Given the description of an element on the screen output the (x, y) to click on. 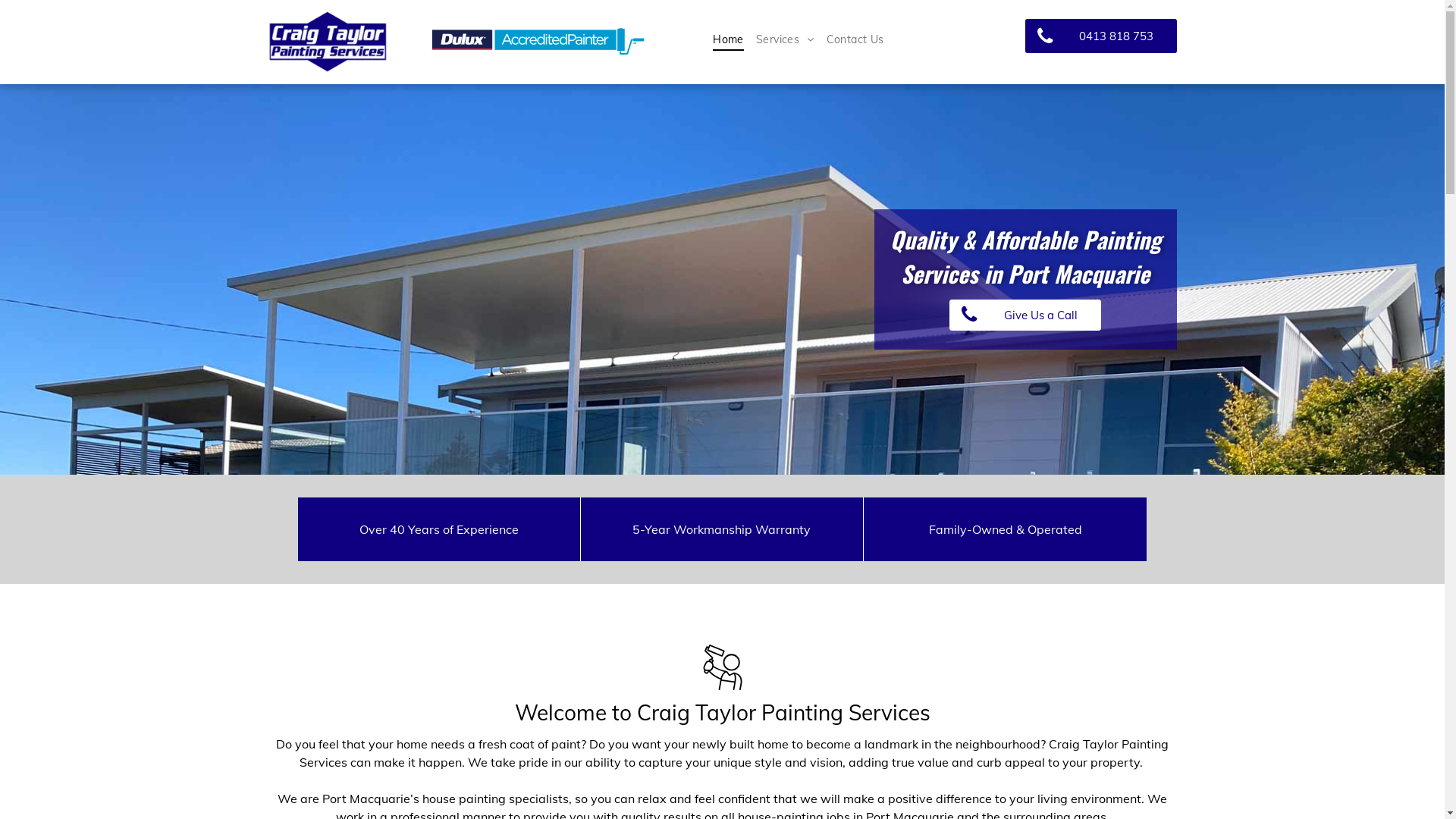
0413 818 753 Element type: text (1100, 35)
Give Us a Call Element type: text (1025, 314)
Home Element type: text (727, 39)
Services Element type: text (784, 39)
Contact Us Element type: text (855, 39)
